Given the description of an element on the screen output the (x, y) to click on. 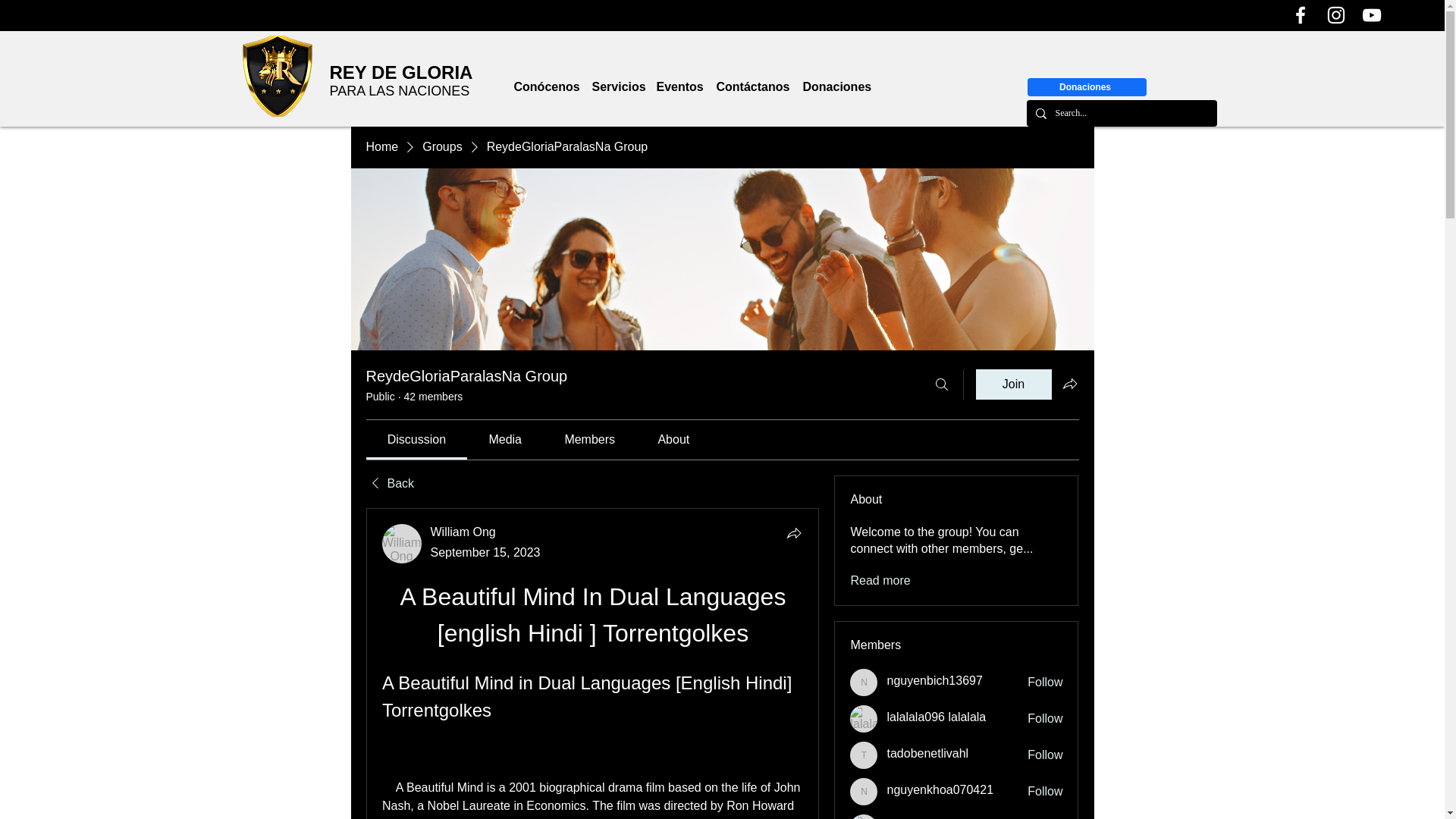
Follow (1044, 718)
Follow (1044, 791)
Read more (880, 580)
Donaciones (1085, 86)
nguyenkhoa070421 (863, 791)
Servicios (615, 86)
Home (381, 146)
Follow (1044, 754)
teamseo buildlink2 (936, 818)
William Ong (463, 531)
